Given the description of an element on the screen output the (x, y) to click on. 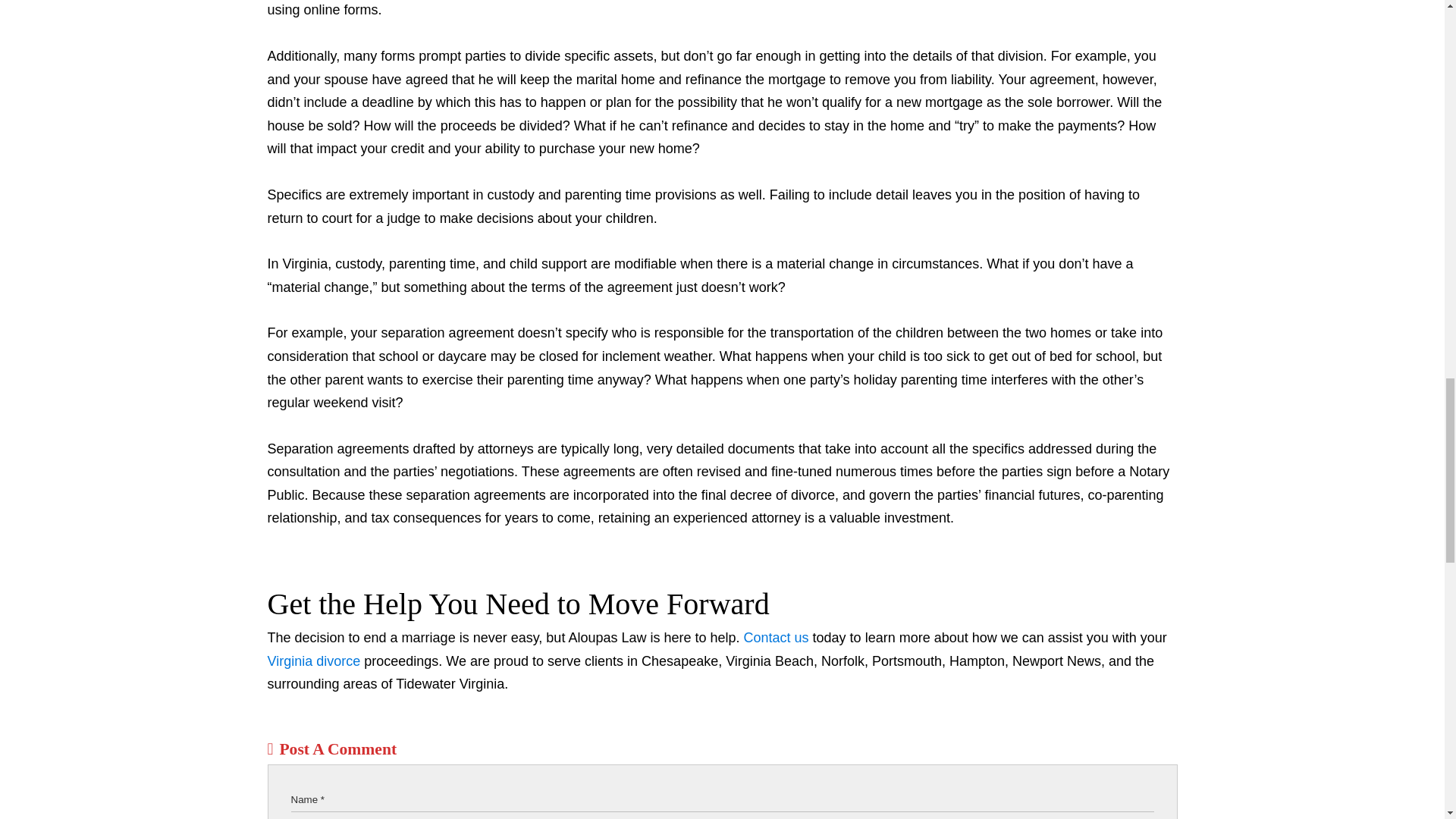
Contact us (776, 637)
Virginia divorce (312, 661)
